Given the description of an element on the screen output the (x, y) to click on. 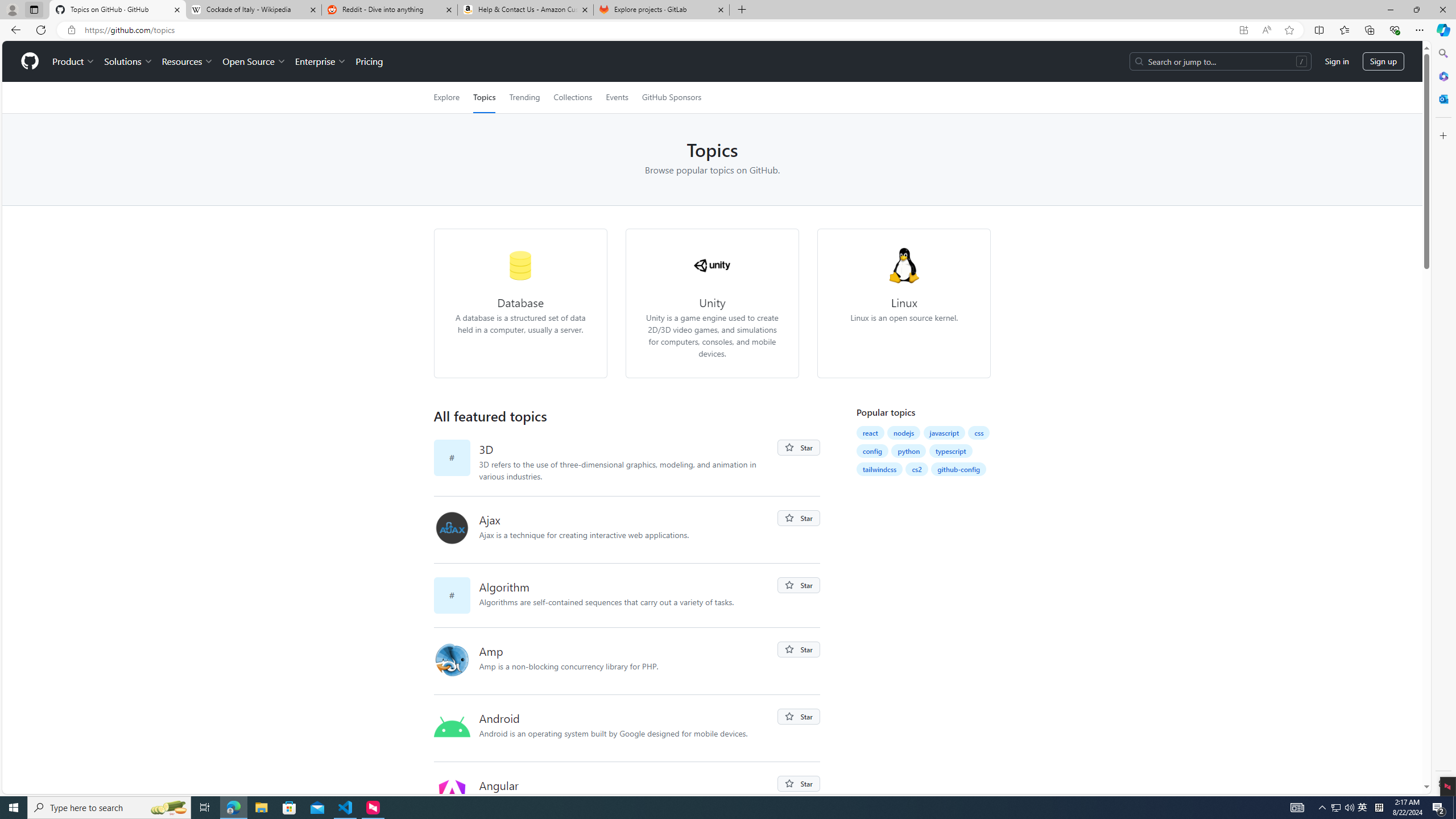
amphp (456, 660)
database (520, 265)
Topics (484, 97)
nodejs (903, 432)
Amp Amp is a non-blocking concurrency library for PHP. (628, 660)
Help & Contact Us - Amazon Customer Service (525, 9)
typescript (950, 450)
tailwindcss (879, 468)
